Given the description of an element on the screen output the (x, y) to click on. 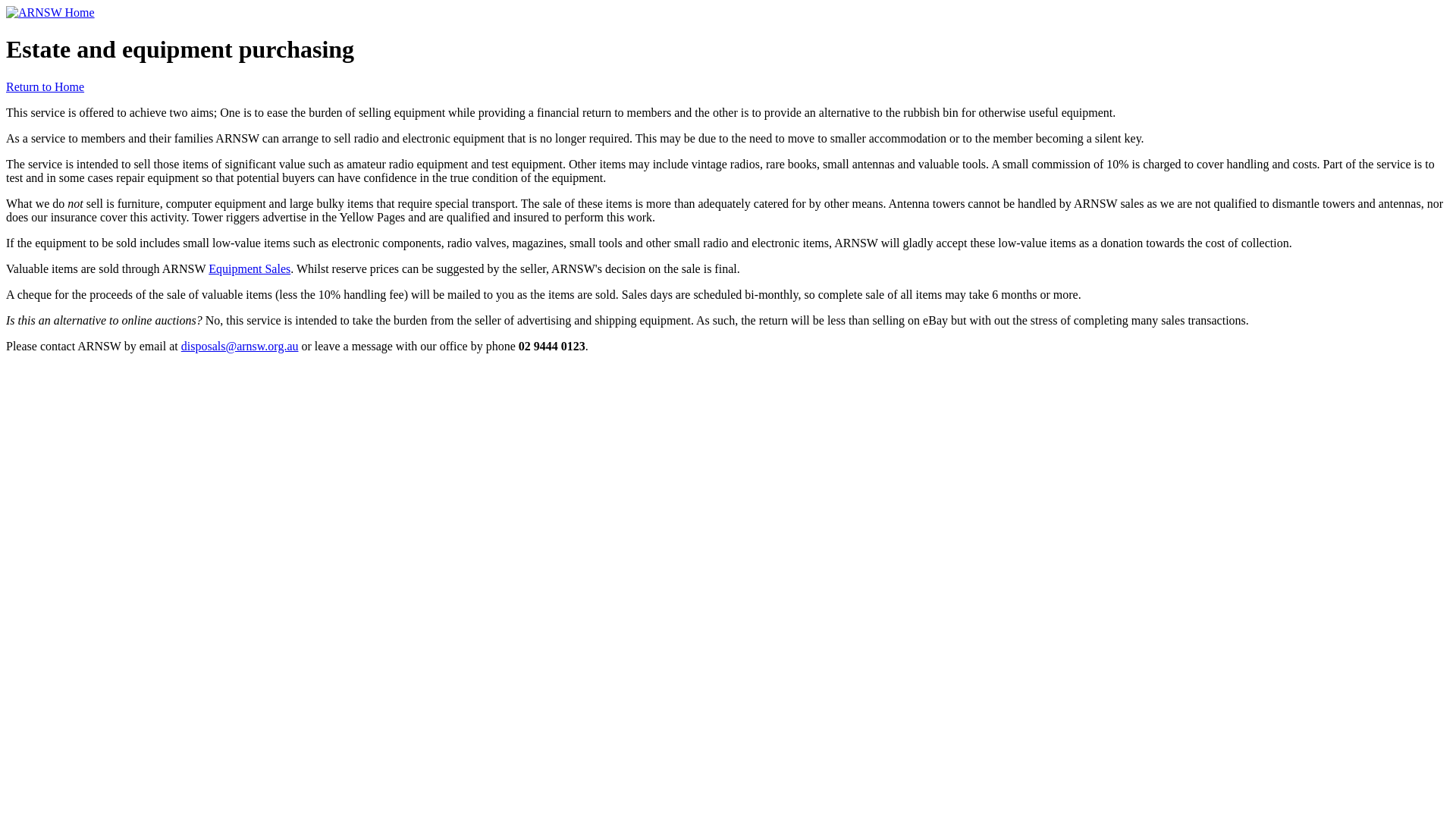
Equipment Sales Element type: text (249, 268)
disposals@arnsw.org.au Element type: text (239, 345)
Return to Home Element type: text (45, 86)
